Given the description of an element on the screen output the (x, y) to click on. 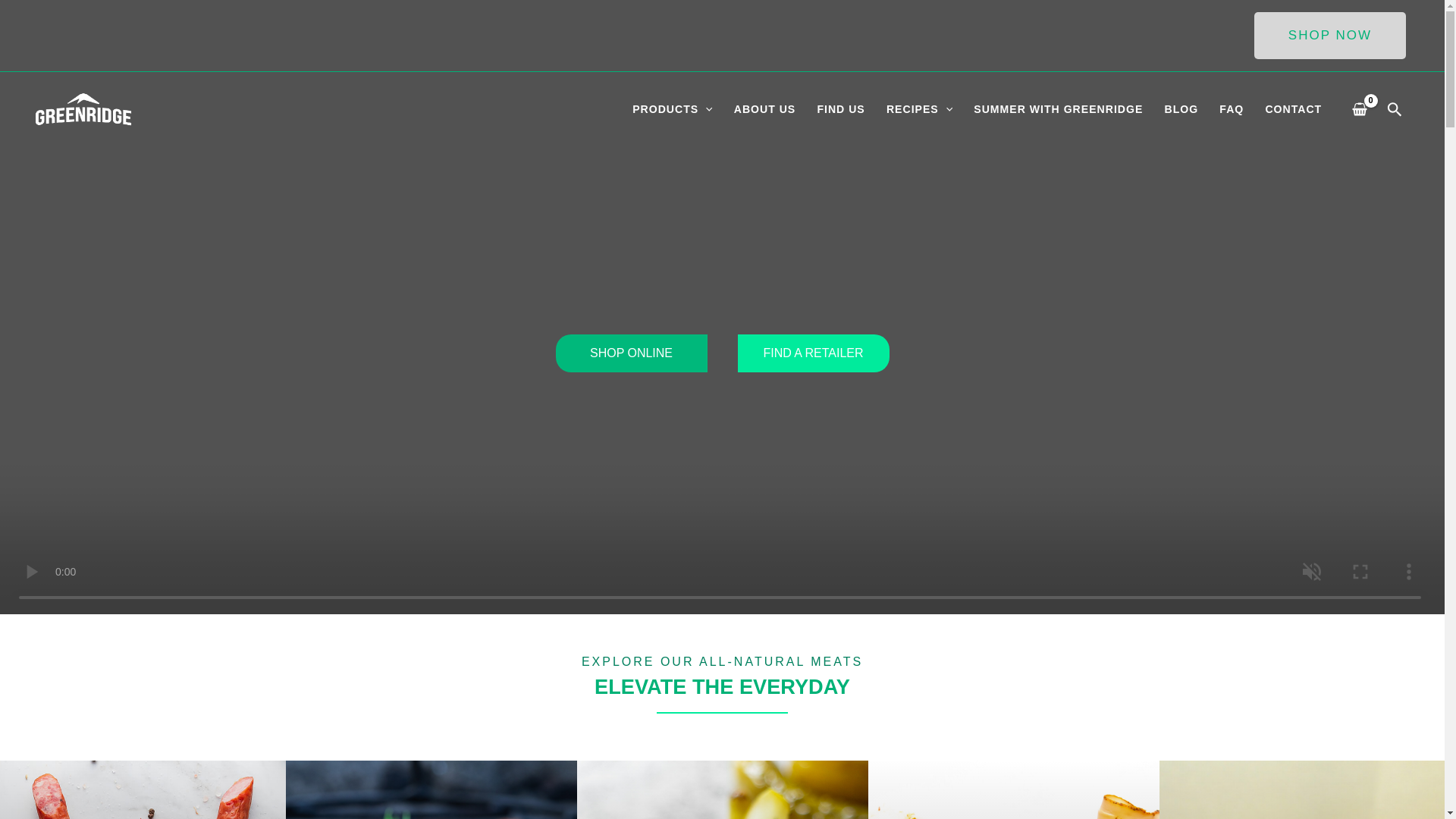
RECIPES (919, 108)
SHOP NOW (1329, 35)
BLOG (1180, 108)
ABOUT US (764, 108)
CONTACT (1292, 108)
SUMMER WITH GREENRIDGE (1057, 108)
PRODUCTS (672, 108)
FIND US (840, 108)
